Given the description of an element on the screen output the (x, y) to click on. 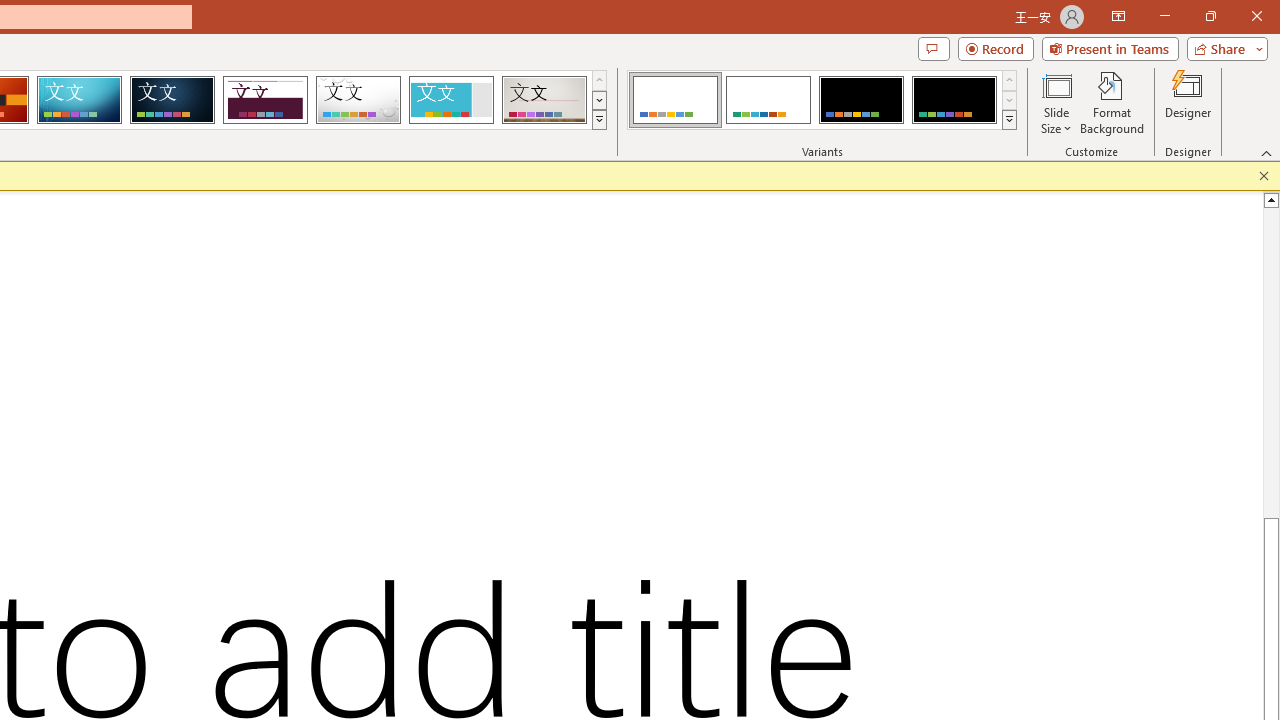
Gallery (544, 100)
Office Theme Variant 3 (861, 100)
Frame (450, 100)
Damask (171, 100)
Office Theme Variant 4 (953, 100)
Dividend (265, 100)
Slide Size (1056, 102)
Office Theme Variant 2 (768, 100)
Droplet (358, 100)
Format Background (1111, 102)
